Given the description of an element on the screen output the (x, y) to click on. 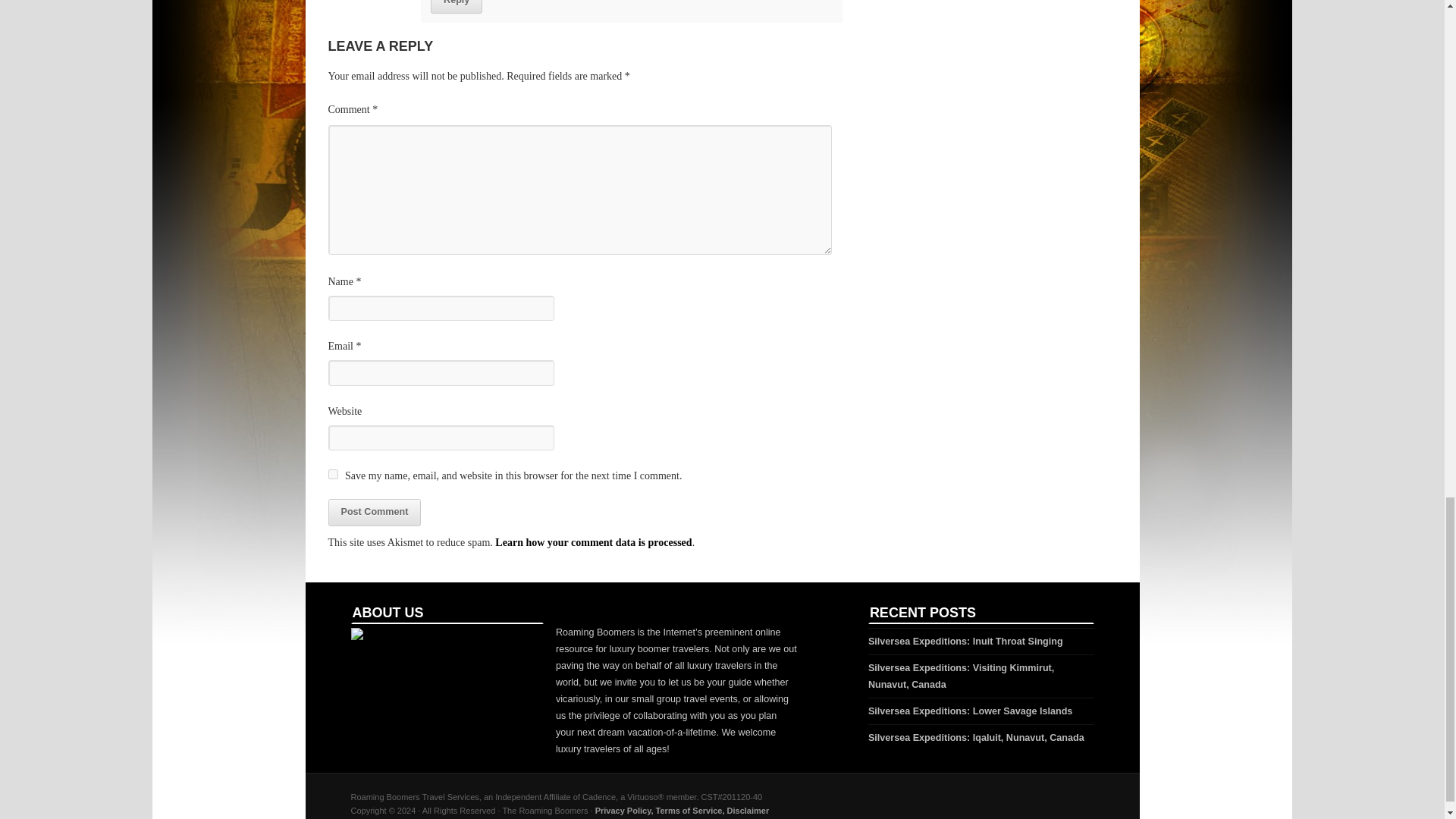
Post Comment (373, 512)
yes (332, 474)
